Given the description of an element on the screen output the (x, y) to click on. 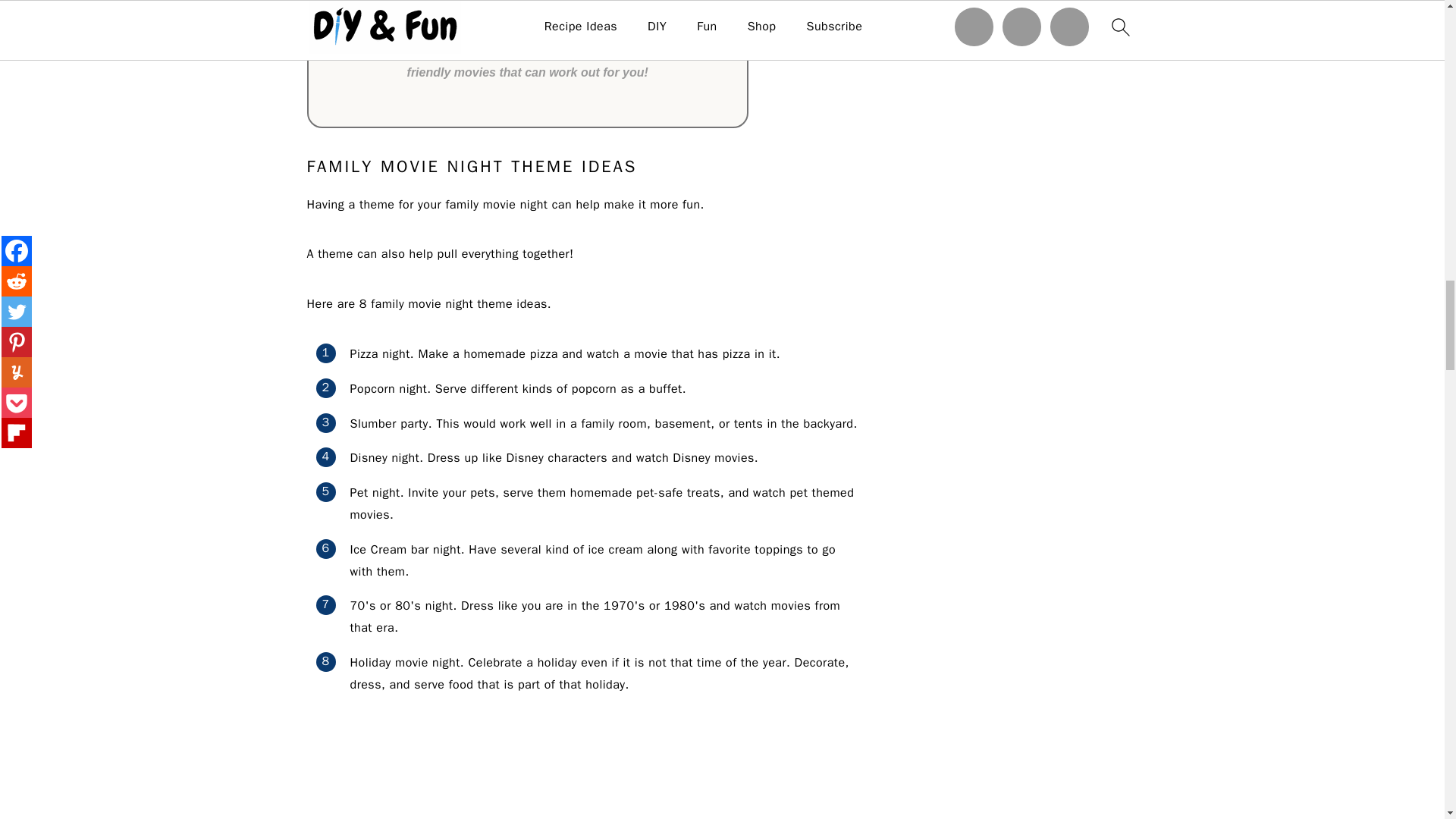
Hulu (354, 6)
